Given the description of an element on the screen output the (x, y) to click on. 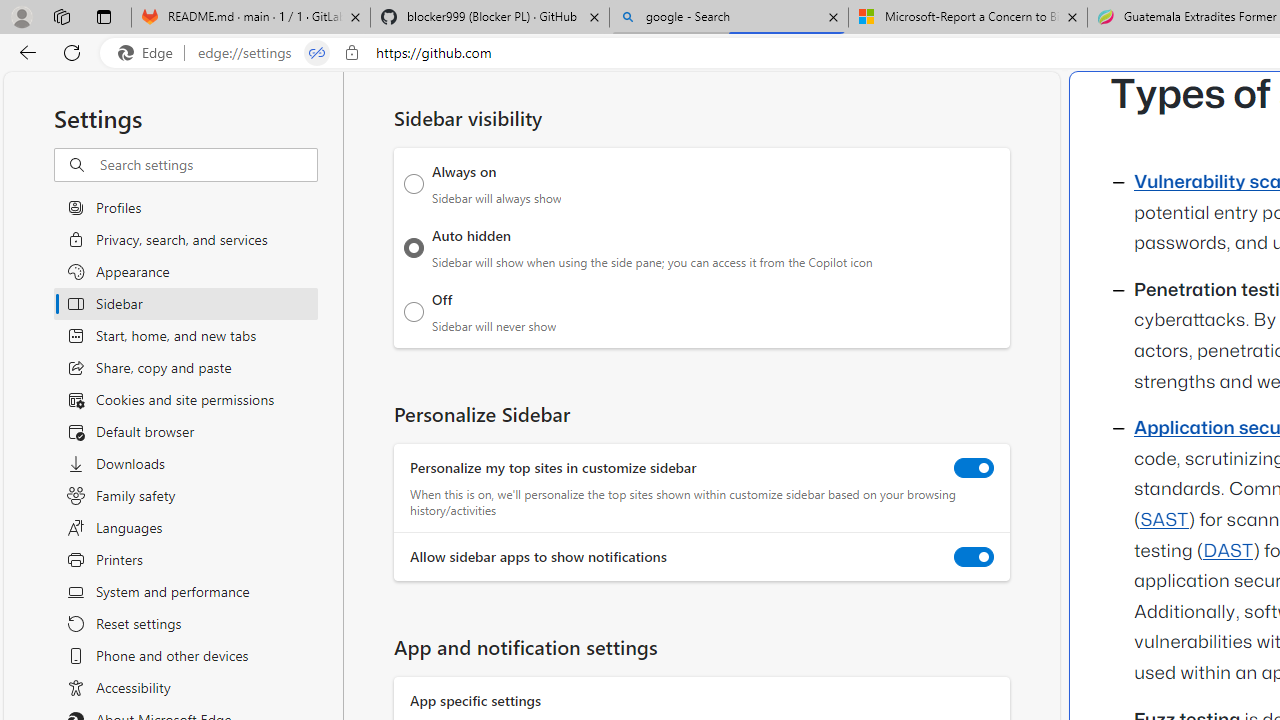
Search settings (207, 165)
SAST (1164, 520)
Allow sidebar apps to show notifications (973, 557)
Microsoft-Report a Concern to Bing (967, 17)
google - Search (729, 17)
Personalize my top sites in customize sidebar (973, 467)
Off Sidebar will never show (413, 311)
